Given the description of an element on the screen output the (x, y) to click on. 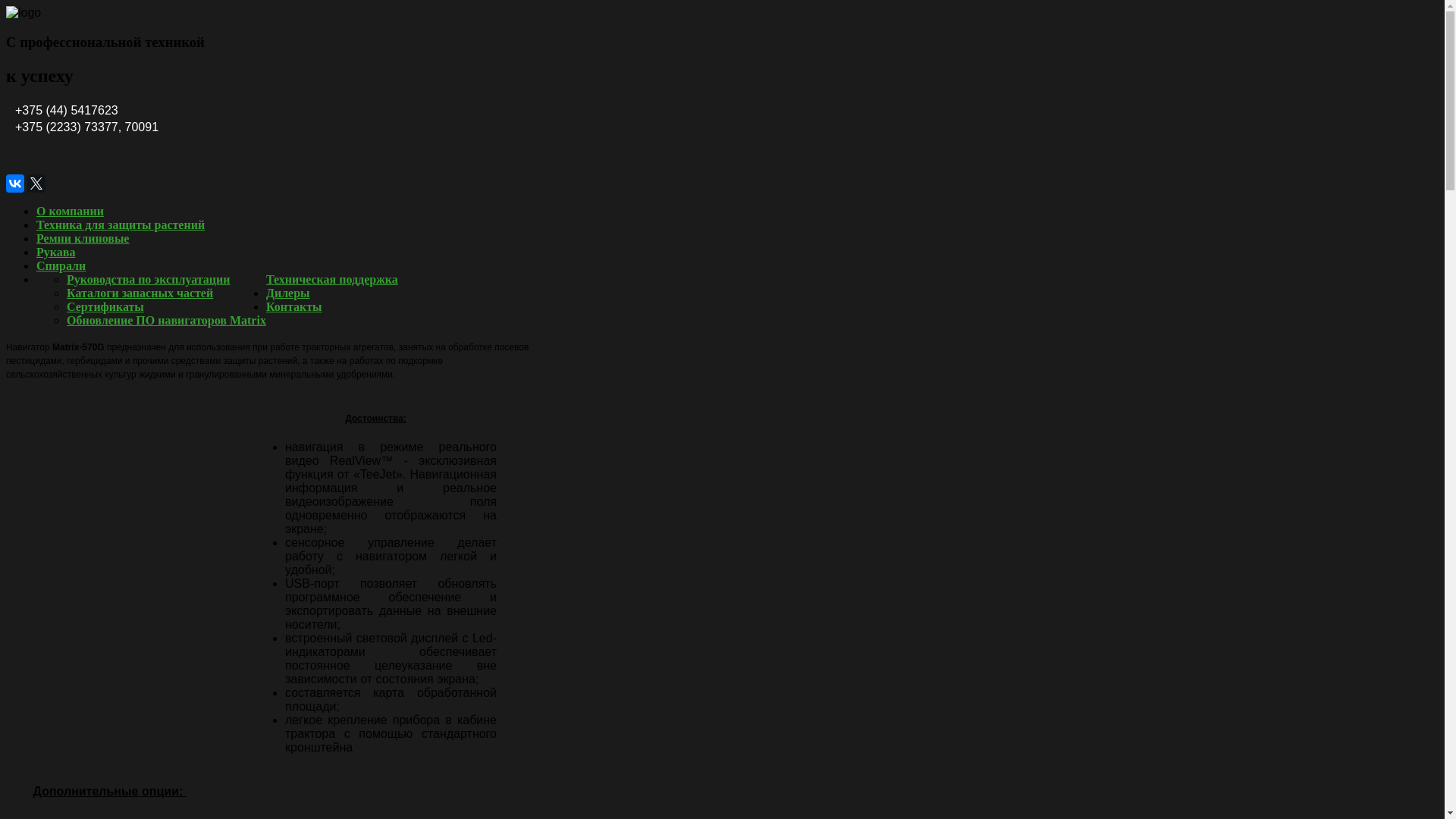
Twitter Element type: hover (36, 183)
